Given the description of an element on the screen output the (x, y) to click on. 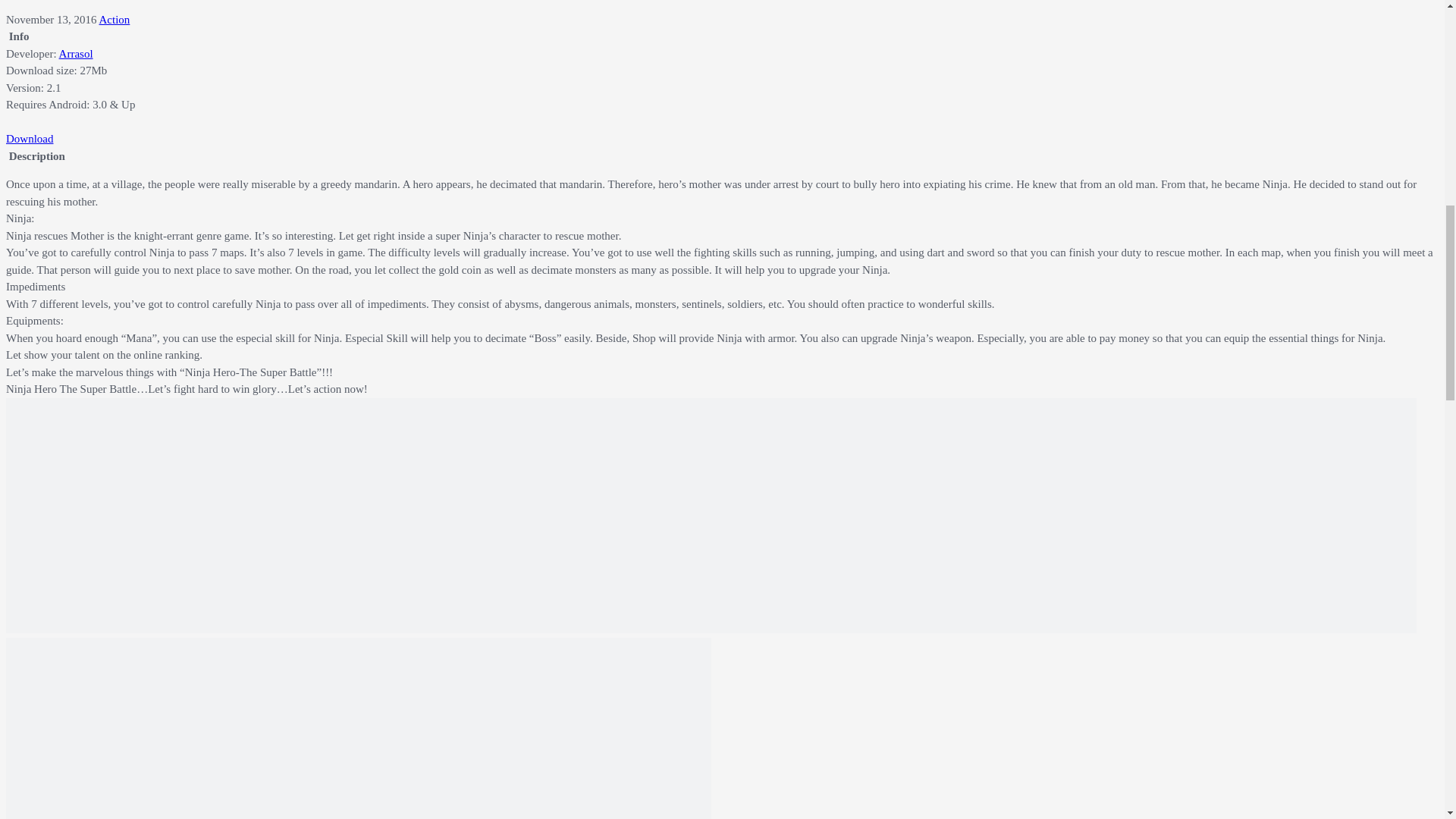
View all posts in Action (114, 19)
Download (29, 138)
Action (114, 19)
Arrasol (76, 53)
